Given the description of an element on the screen output the (x, y) to click on. 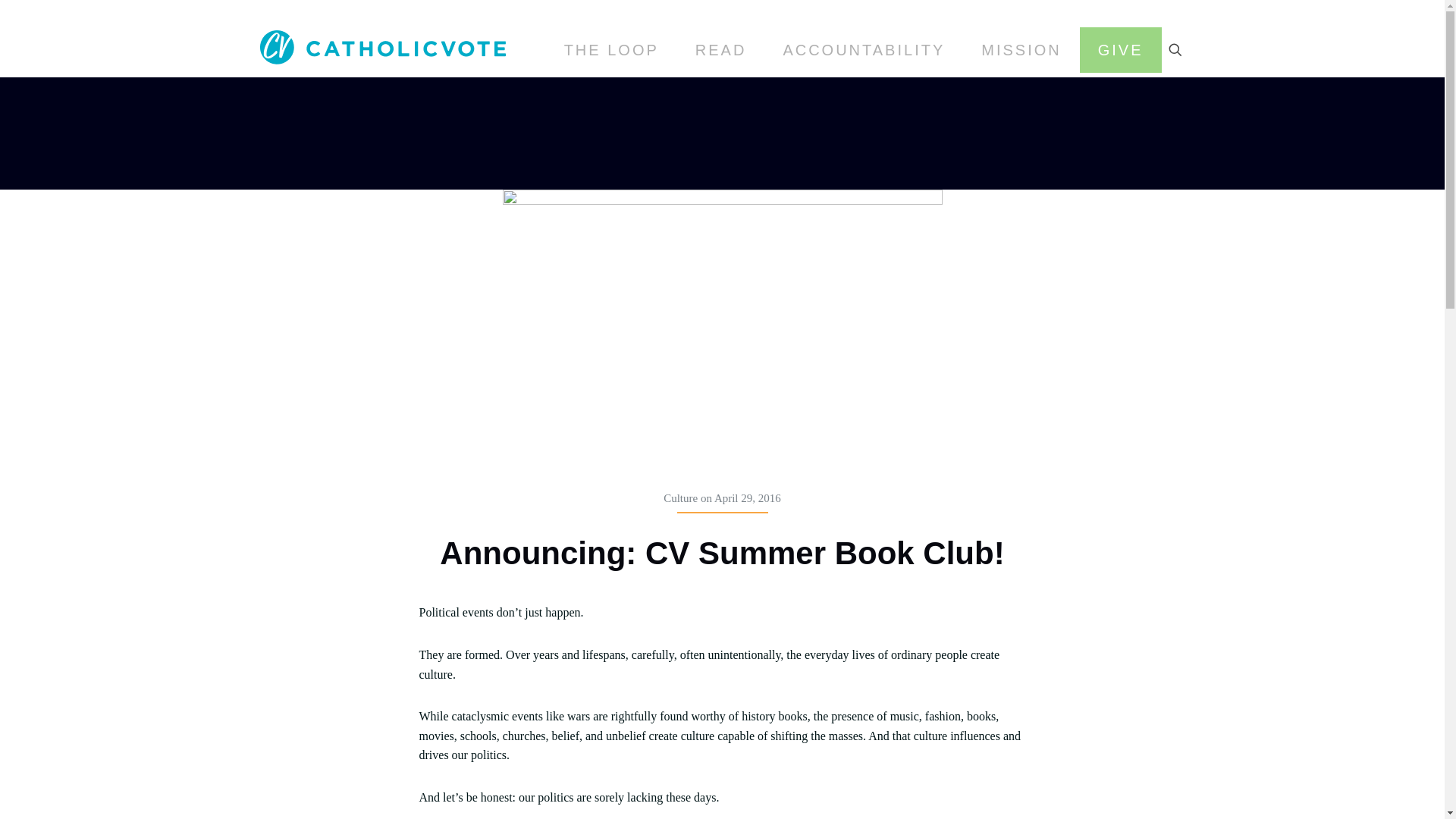
Culture (680, 498)
READ (721, 49)
CatholicVote org (382, 45)
GIVE (1120, 49)
MISSION (1020, 49)
ACCOUNTABILITY (863, 49)
THE LOOP (611, 49)
